Given the description of an element on the screen output the (x, y) to click on. 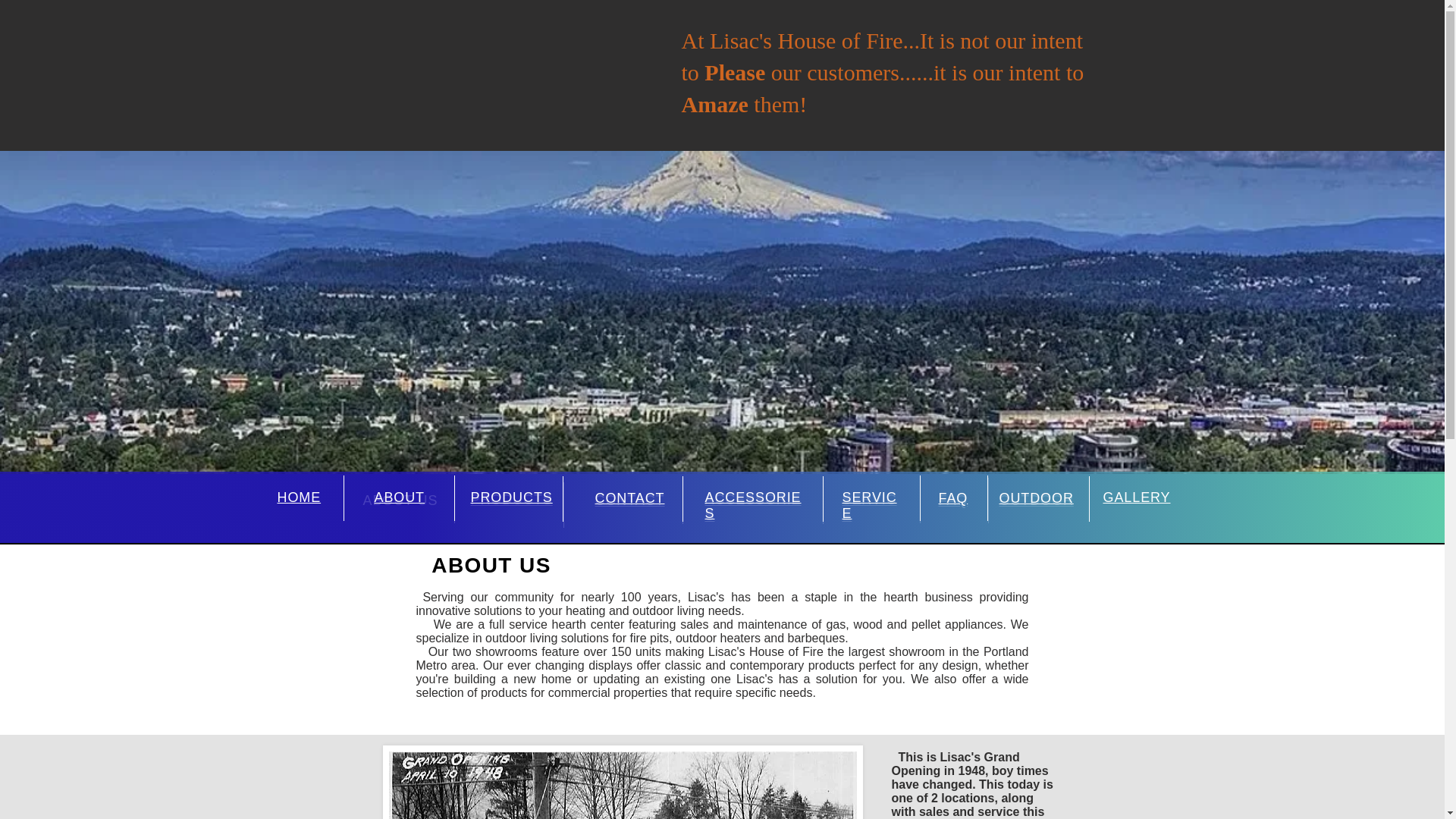
GALLERY (1136, 497)
HOME (299, 497)
FAQ (953, 498)
OUTDOOR (1036, 498)
CONTACT (628, 498)
ABOUT (399, 497)
SERVICE (868, 504)
OUTDOOR (1036, 500)
ACCESSORIES (753, 504)
PRODUCTS (510, 499)
